Given the description of an element on the screen output the (x, y) to click on. 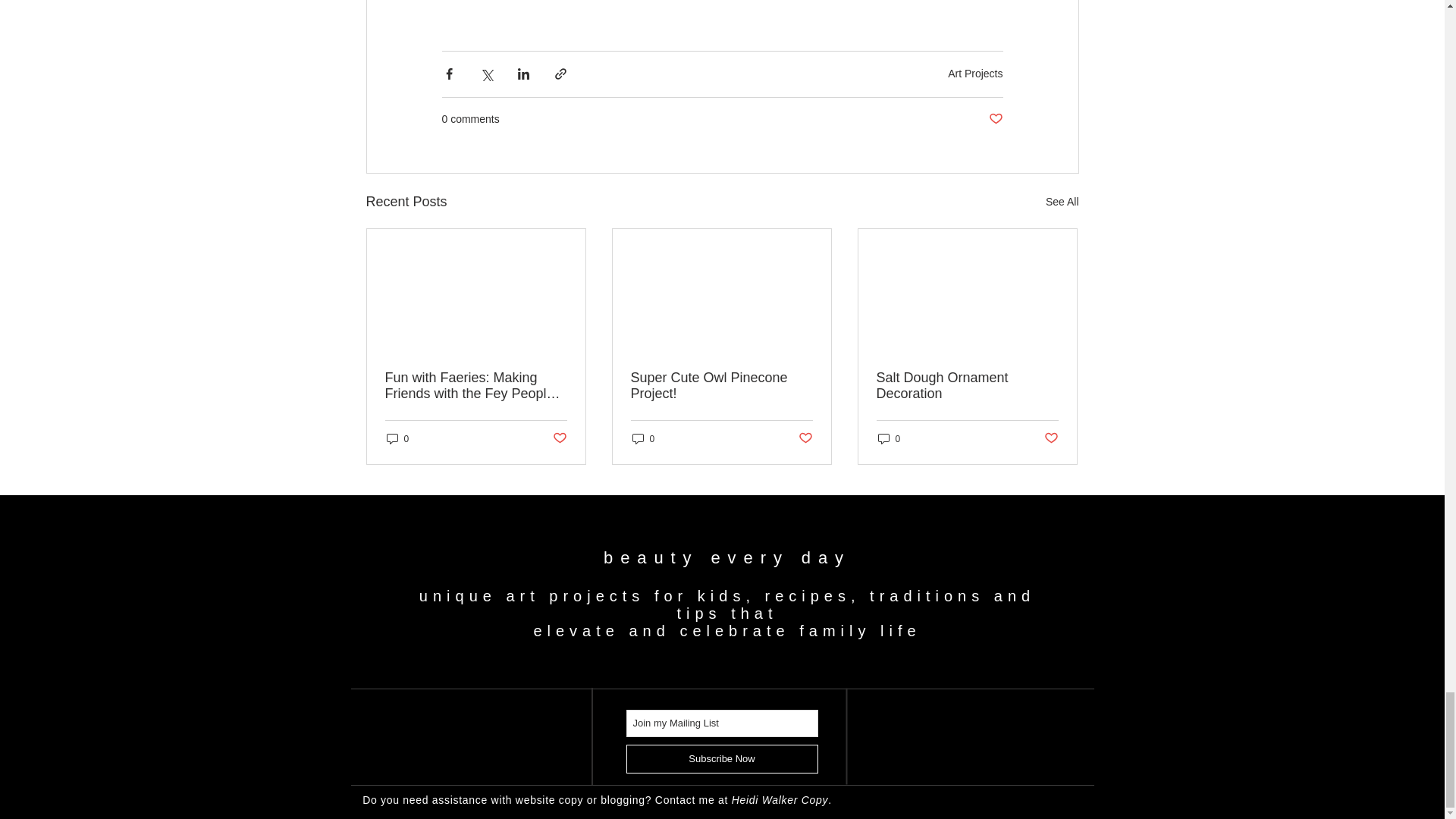
Salt Dough Ornament Decoration (967, 386)
See All (1061, 201)
Art Projects (975, 73)
Super Cute Owl Pinecone Project! (721, 386)
Post not marked as liked (804, 438)
Post not marked as liked (995, 119)
0 (643, 438)
Site Search (967, 765)
Post not marked as liked (558, 438)
0 (397, 438)
